Given the description of an element on the screen output the (x, y) to click on. 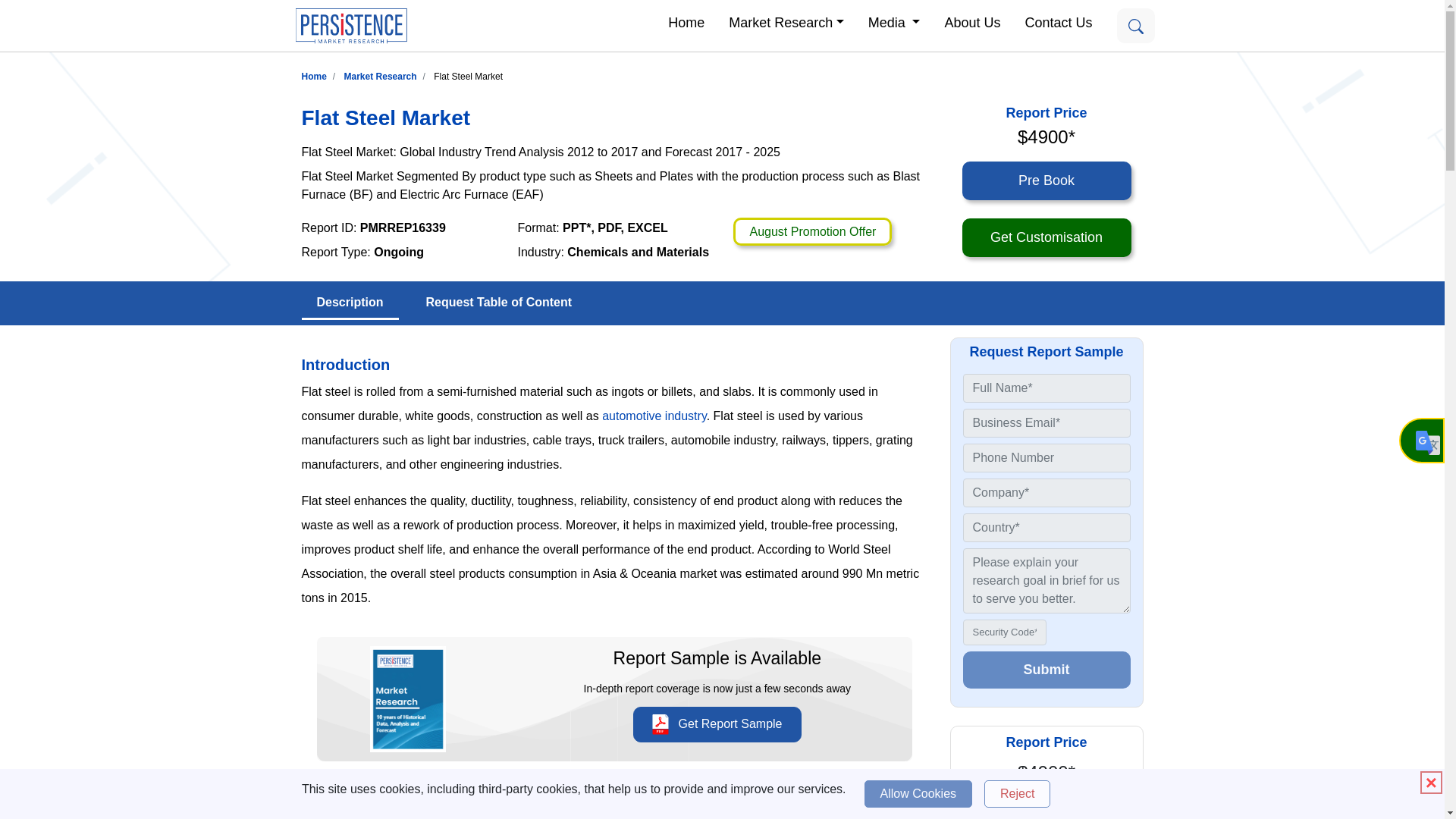
Request Table of Content (499, 302)
Persistence Market Research Company (349, 25)
Search (1135, 25)
Contact Us (1057, 21)
Home (686, 21)
Persistence Market Report (313, 76)
Get Report Sample (716, 724)
Persistence Market Research (379, 76)
automotive industry (654, 415)
Request Discount (812, 231)
